Given the description of an element on the screen output the (x, y) to click on. 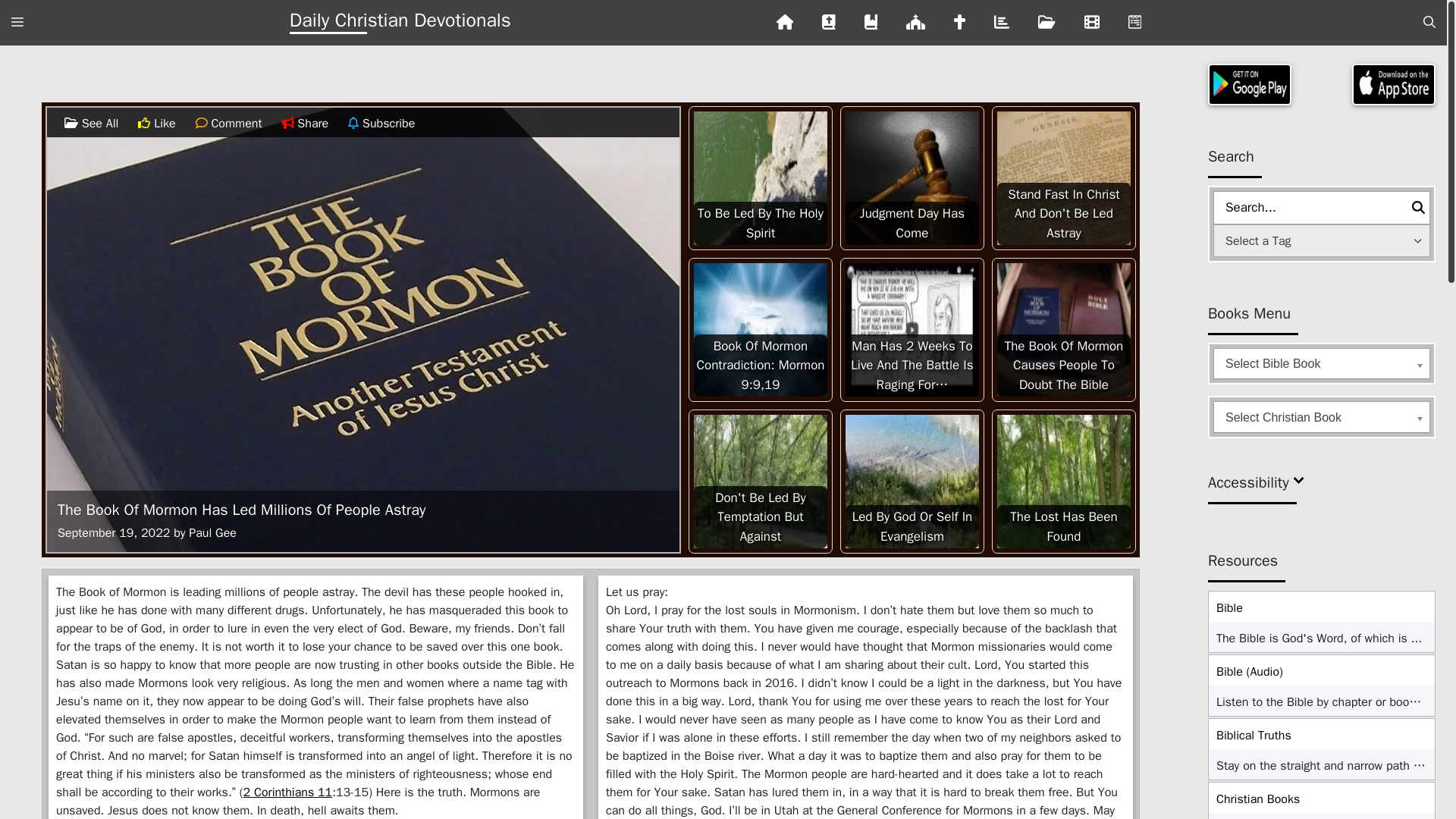
Book Of Mormon Contradiction: Mormon 9:9,19 (760, 329)
Daily Christian Devotionals (400, 23)
Comments (203, 123)
Subscribe (354, 123)
Like (146, 123)
Judgment Day Has Come (911, 177)
Don't Be Led By Temptation But Against (760, 480)
Share (290, 123)
The Lost Has Been Found (1064, 480)
